Given the description of an element on the screen output the (x, y) to click on. 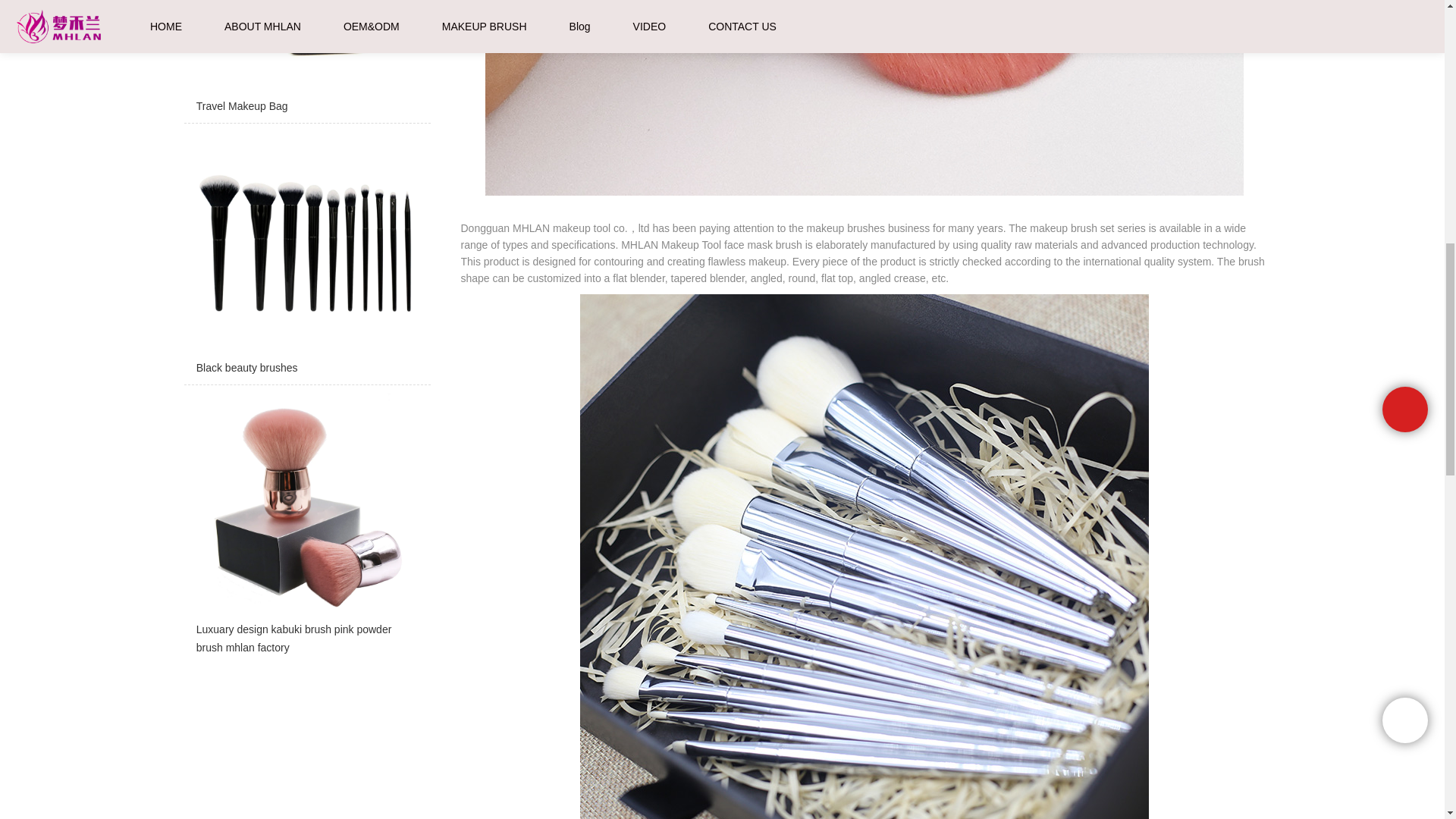
Black beauty brushes (306, 257)
Travel Makeup Bag (306, 61)
Luxuary design kabuki brush pink powder brush mhlan factory (306, 528)
